Given the description of an element on the screen output the (x, y) to click on. 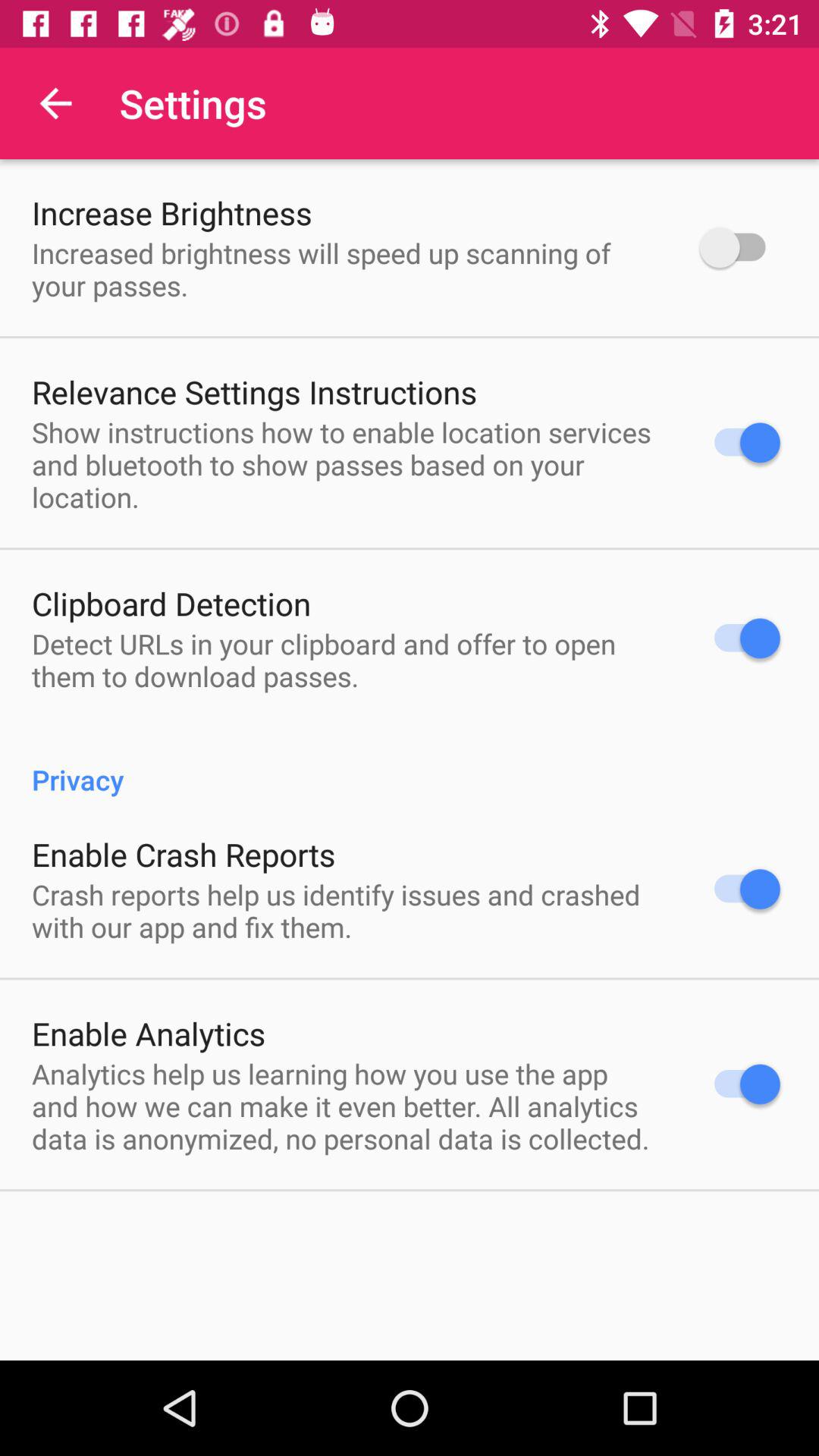
choose item below increased brightness will item (254, 391)
